Given the description of an element on the screen output the (x, y) to click on. 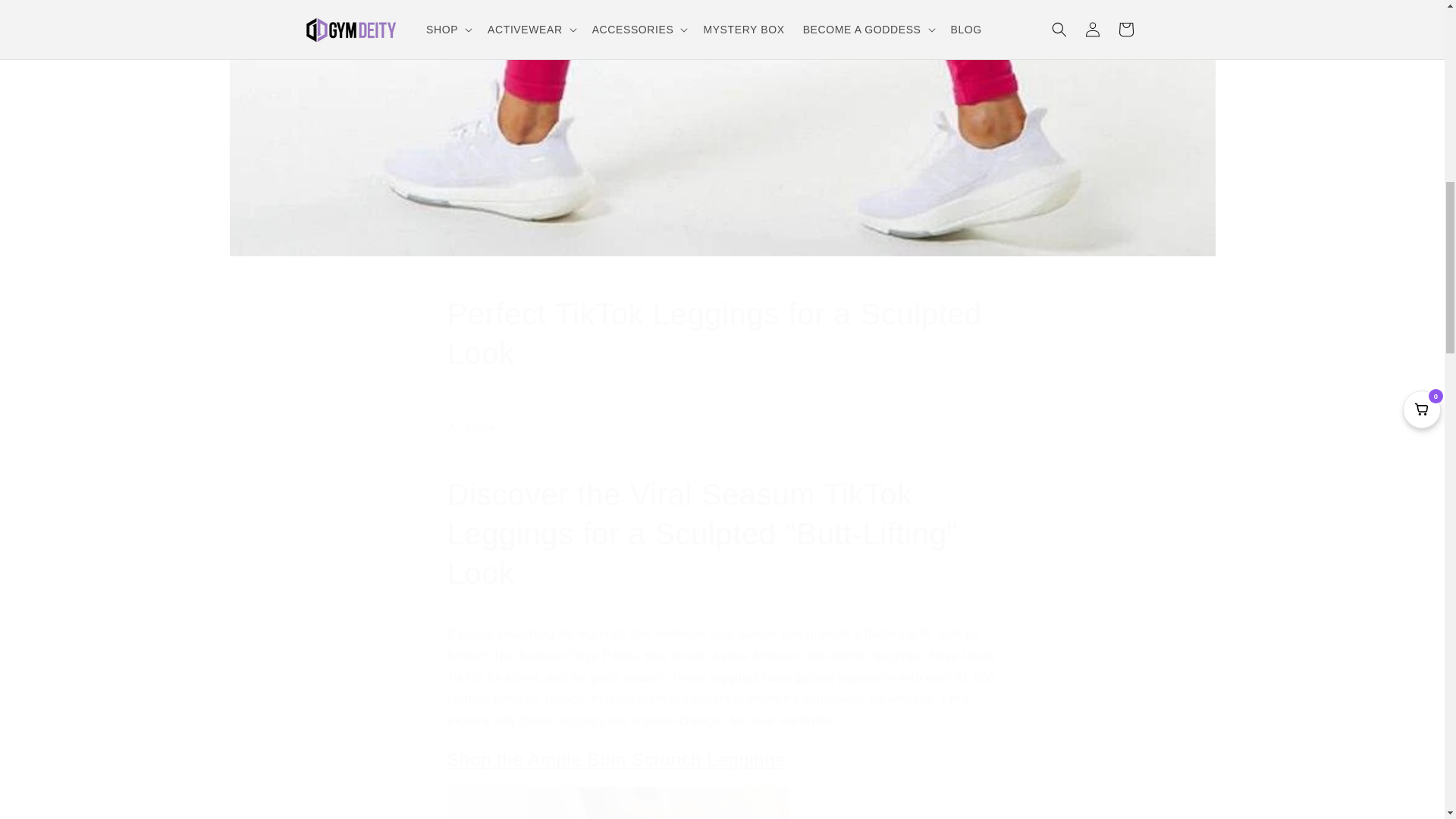
Share (721, 427)
Perfect TikTok Leggings for a Sculpted Look (721, 333)
